Given the description of an element on the screen output the (x, y) to click on. 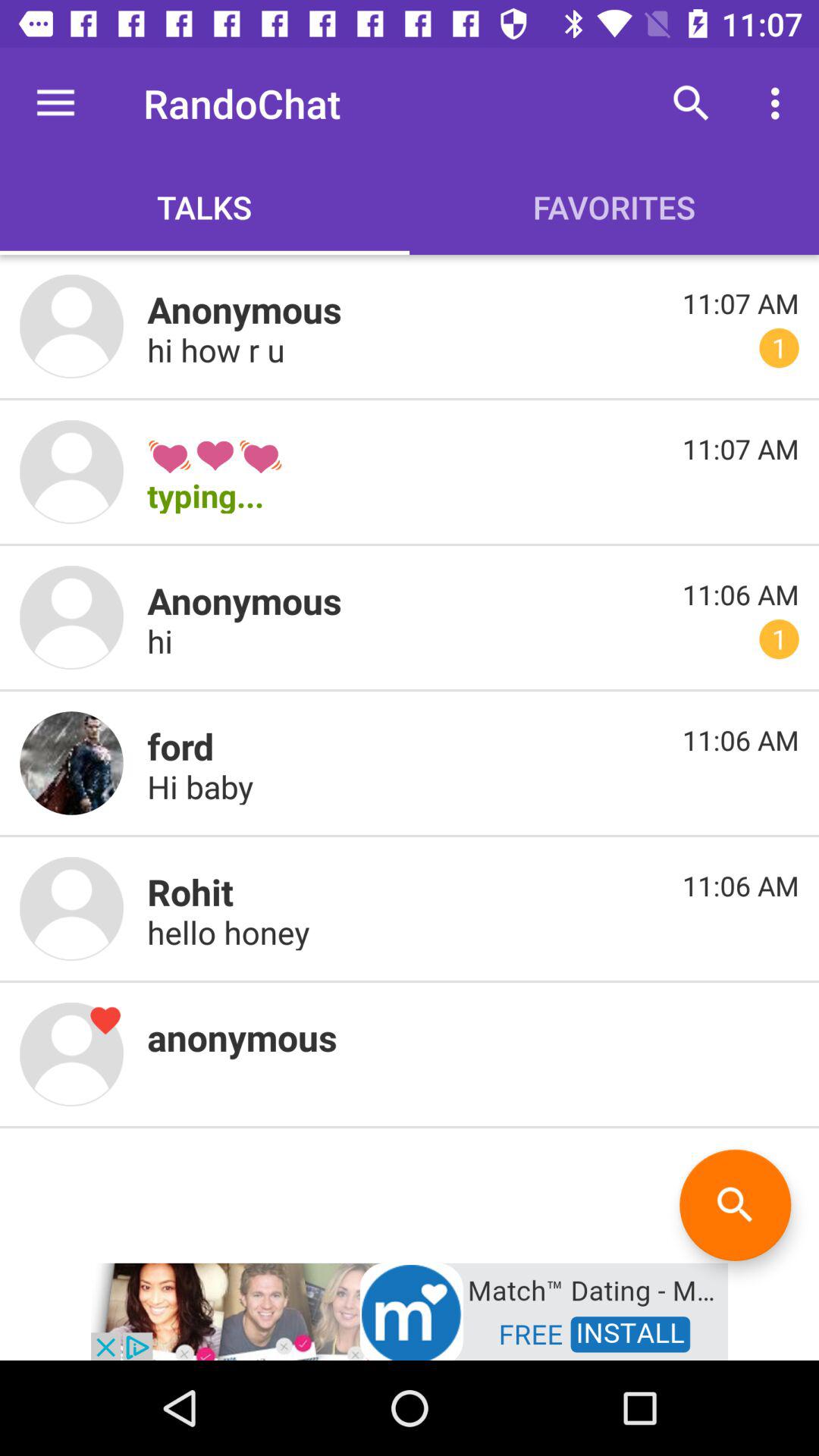
see photo (71, 326)
